Given the description of an element on the screen output the (x, y) to click on. 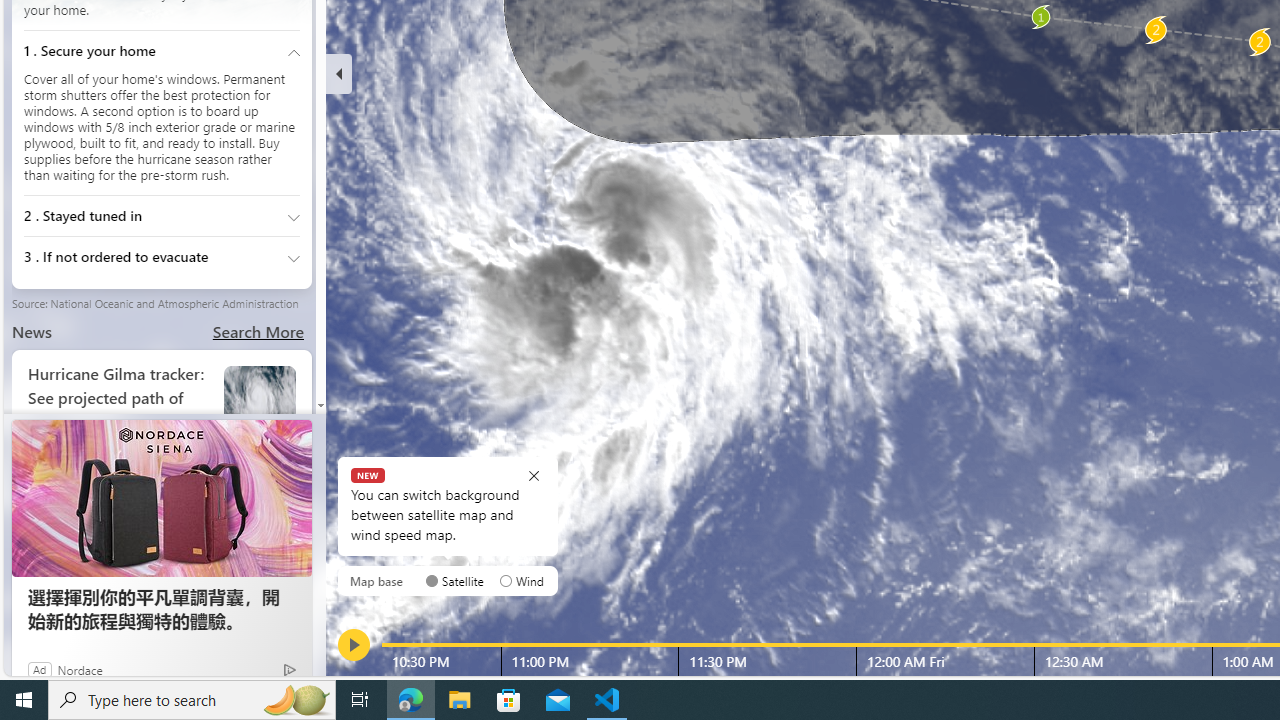
Hide (339, 73)
Search More (258, 331)
AutomationID: radioButton-DS-EntryPoint1-1-layer-subtype-0-1 (505, 580)
Class: BubbleMessageCloseIcon-DS-EntryPoint1-1 (533, 474)
AutomationID: radioButton-DS-EntryPoint1-1-layer-subtype-0-0 (431, 580)
